Given the description of an element on the screen output the (x, y) to click on. 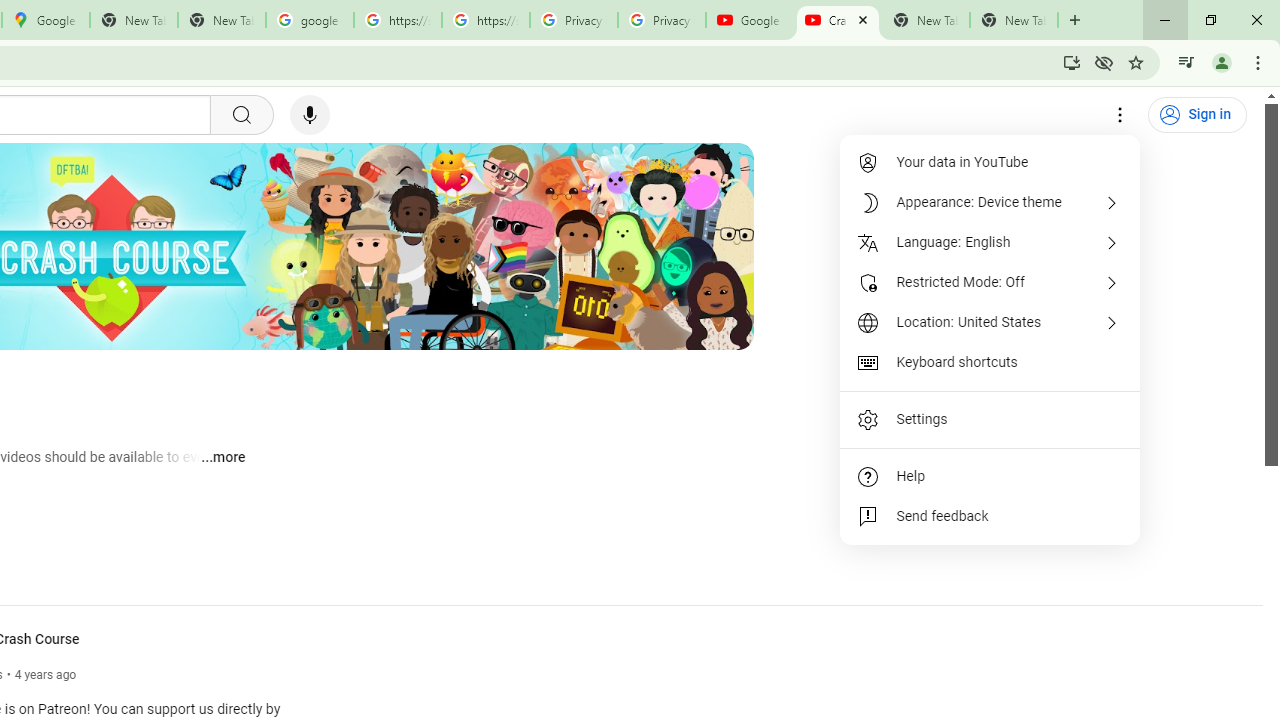
CrashCourse - YouTube (837, 20)
New Tab (1014, 20)
Your data in YouTube (989, 162)
Location: United States (989, 322)
Language: English (989, 242)
